Given the description of an element on the screen output the (x, y) to click on. 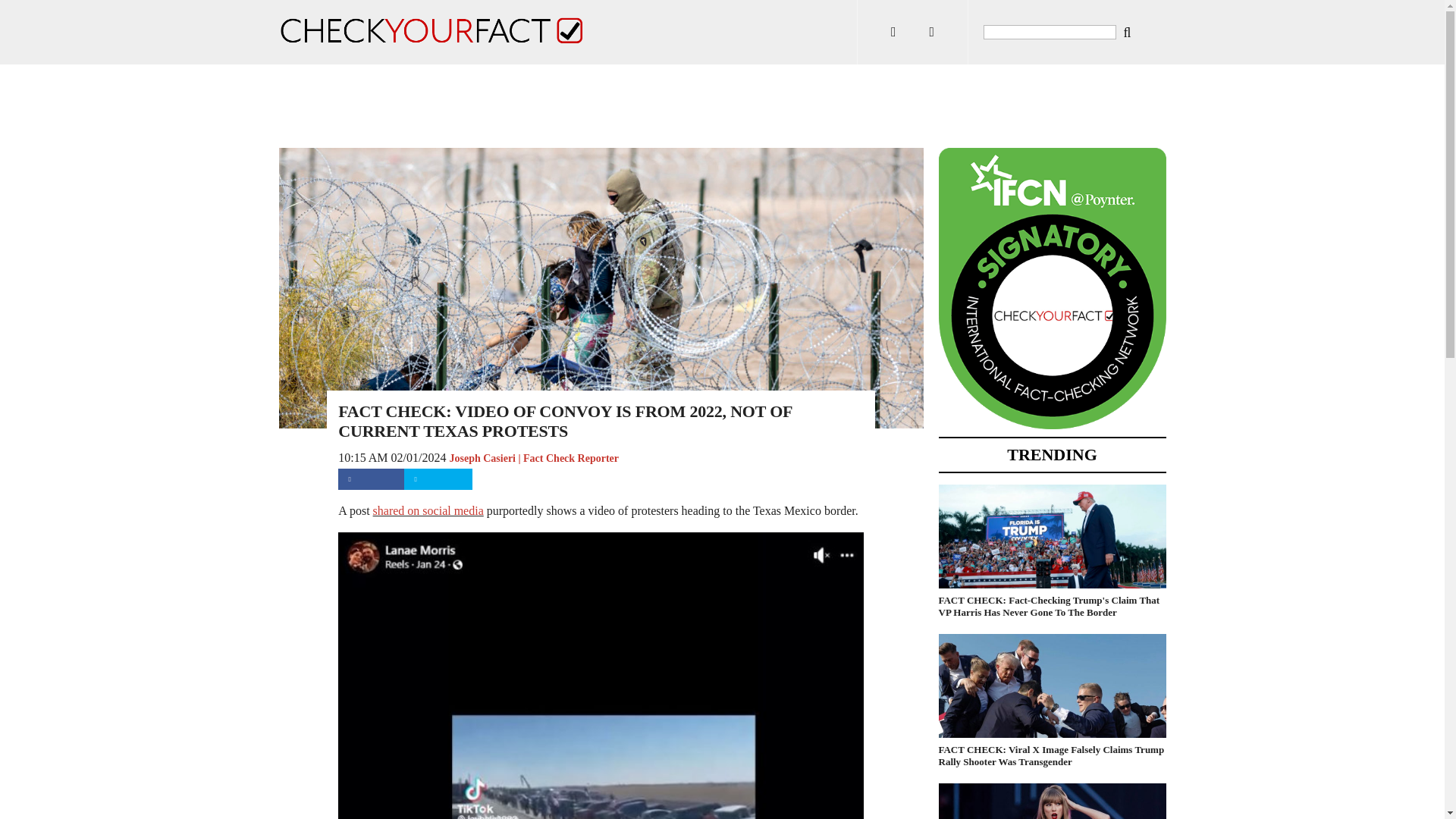
IFCN signatory (1052, 425)
shared on social media (427, 510)
